Given the description of an element on the screen output the (x, y) to click on. 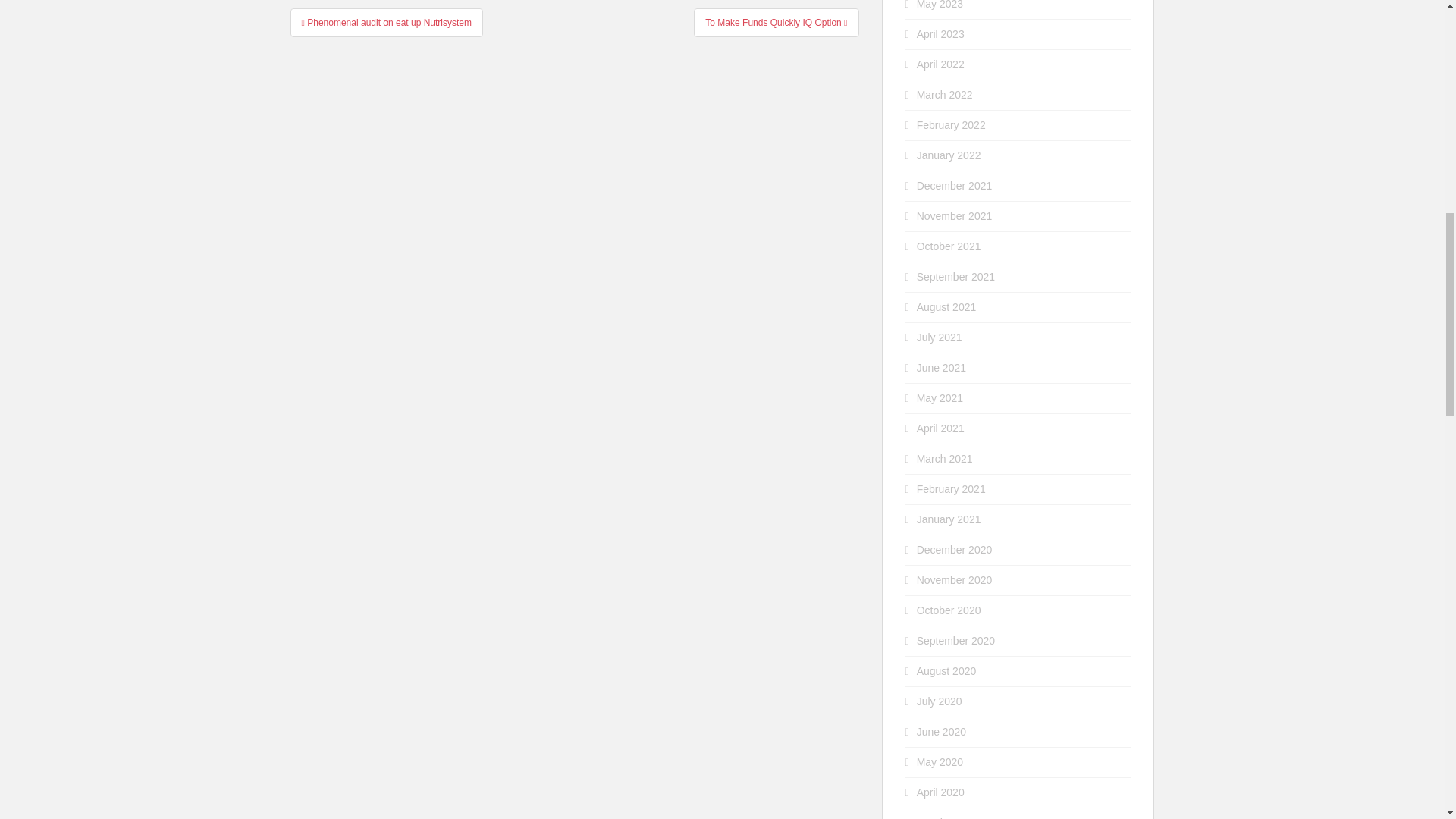
To Make Funds Quickly IQ Option (776, 21)
May 2023 (939, 4)
April 2022 (940, 64)
March 2022 (944, 94)
Phenomenal audit on eat up Nutrisystem (386, 21)
April 2023 (940, 33)
